Given the description of an element on the screen output the (x, y) to click on. 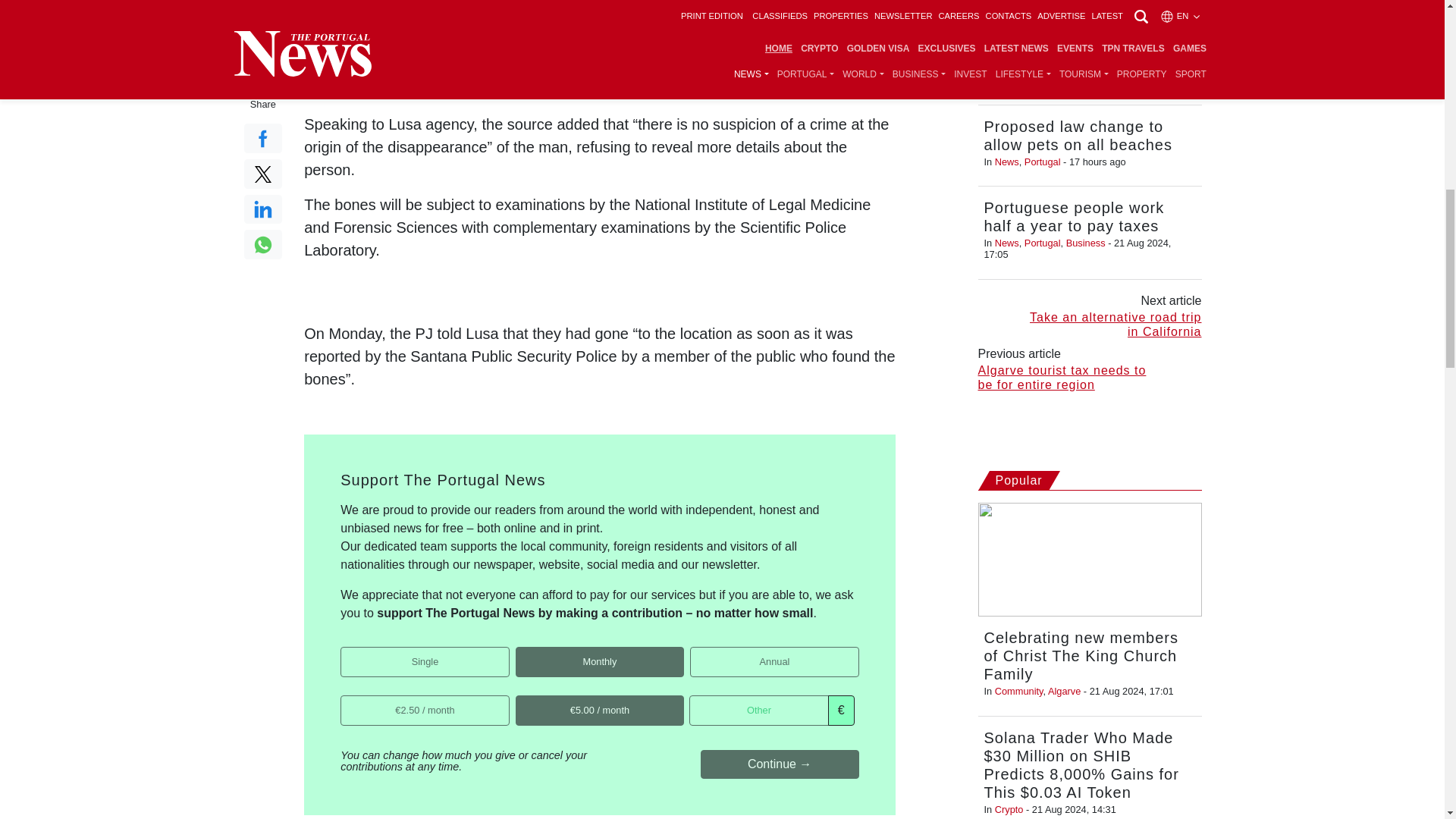
5 (520, 700)
single (345, 651)
P-18662245734186221MGVD6SI (695, 651)
2.5 (345, 700)
Bones found in Madeira belong to missing person (599, 44)
P-6T2758016F920900CMGGQYMQ (520, 651)
